Given the description of an element on the screen output the (x, y) to click on. 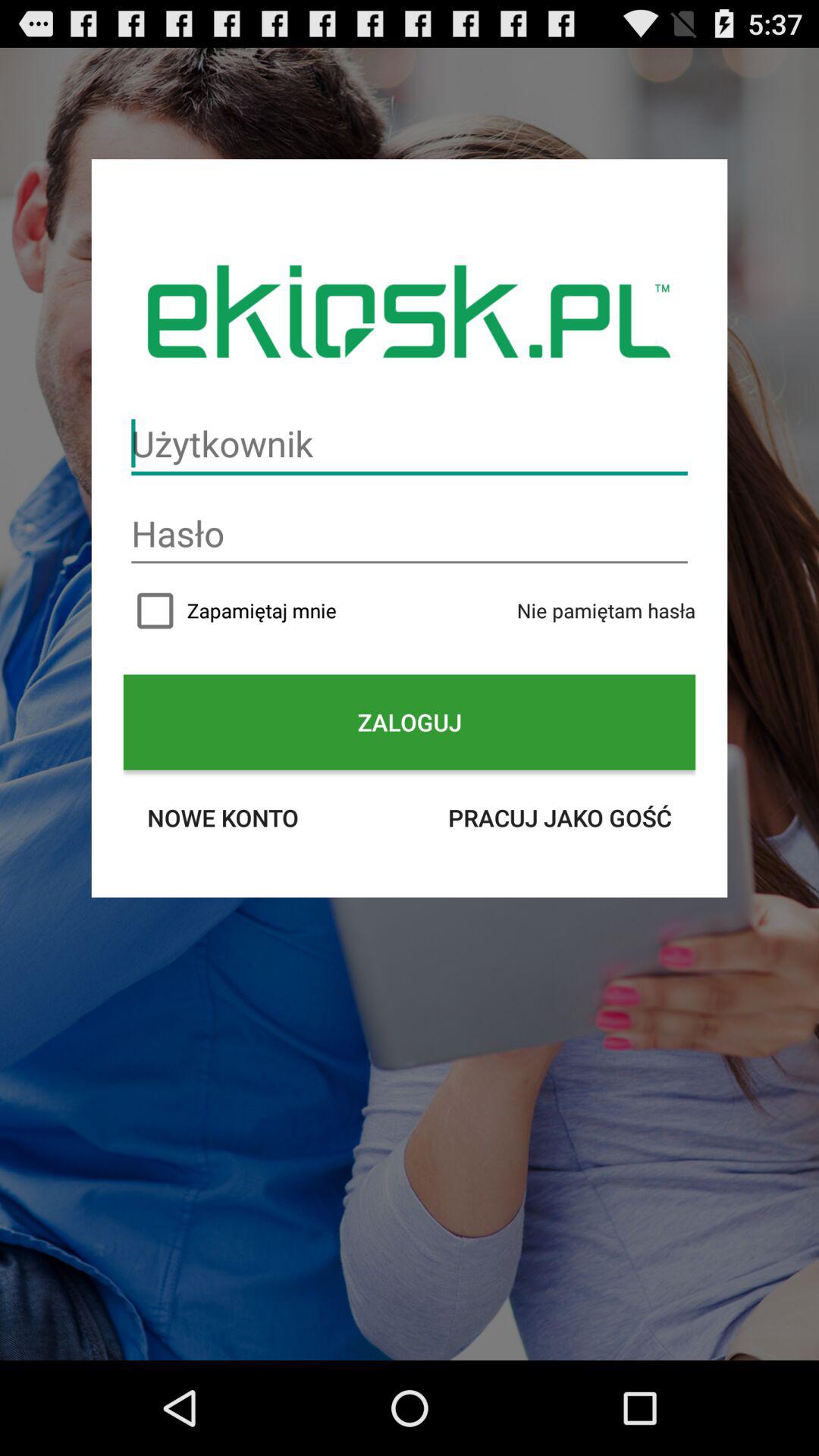
turn off button to the right of nowe konto button (559, 817)
